Given the description of an element on the screen output the (x, y) to click on. 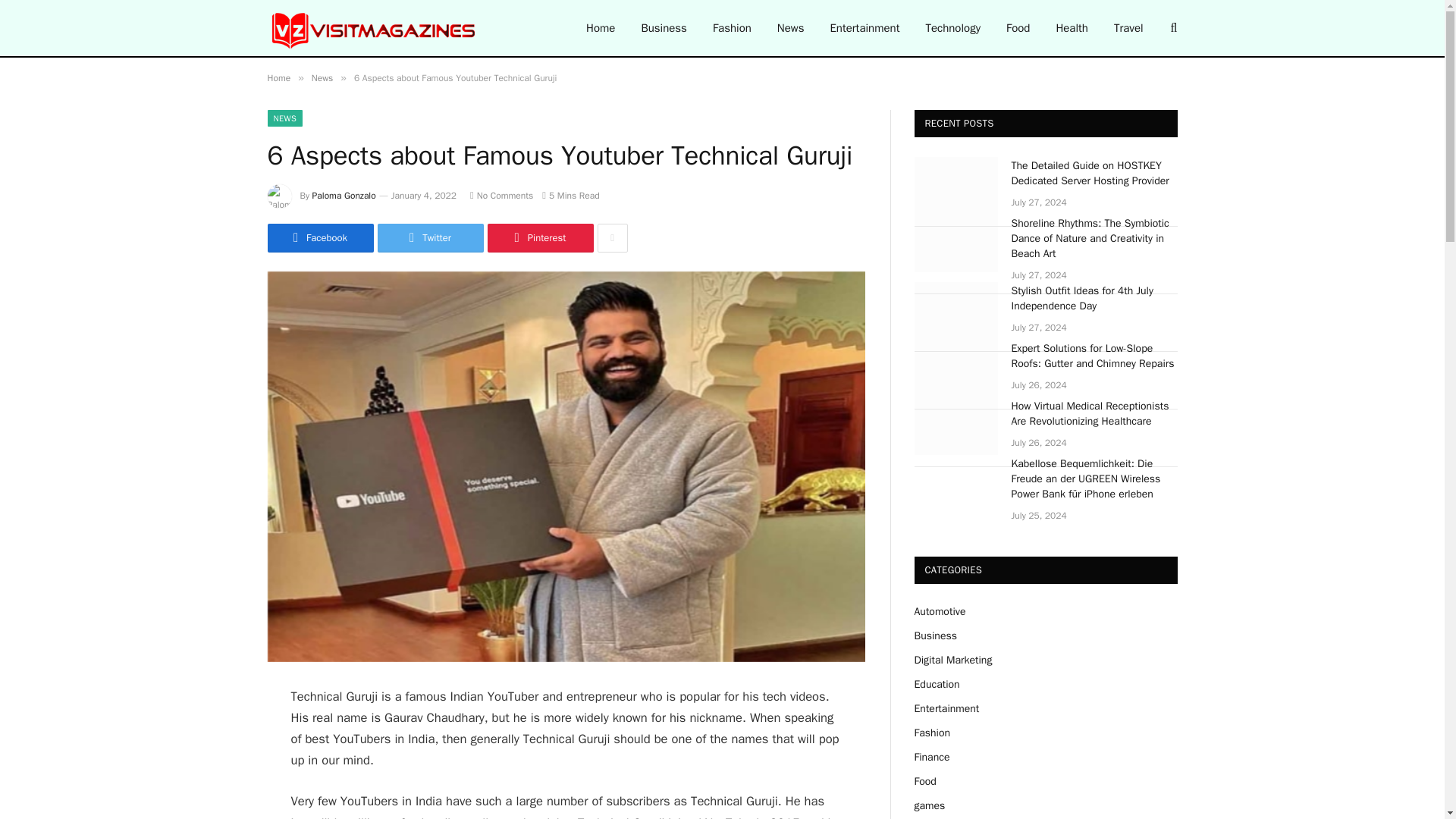
Home (277, 78)
Posts by Paloma Gonzalo (344, 195)
Twitter (430, 237)
Pinterest (539, 237)
Health (1071, 28)
Facebook (319, 237)
Visitmagazines (373, 28)
Home (600, 28)
Fashion (732, 28)
Travel (1128, 28)
News (790, 28)
Entertainment (864, 28)
No Comments (501, 195)
Paloma Gonzalo (344, 195)
